Given the description of an element on the screen output the (x, y) to click on. 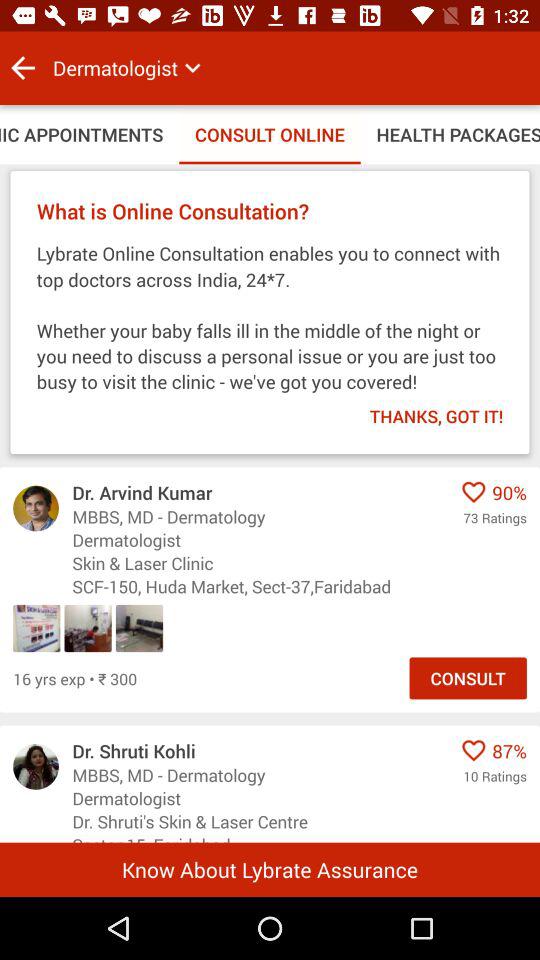
turn off the icon below the sector 15, faridabad icon (270, 869)
